Given the description of an element on the screen output the (x, y) to click on. 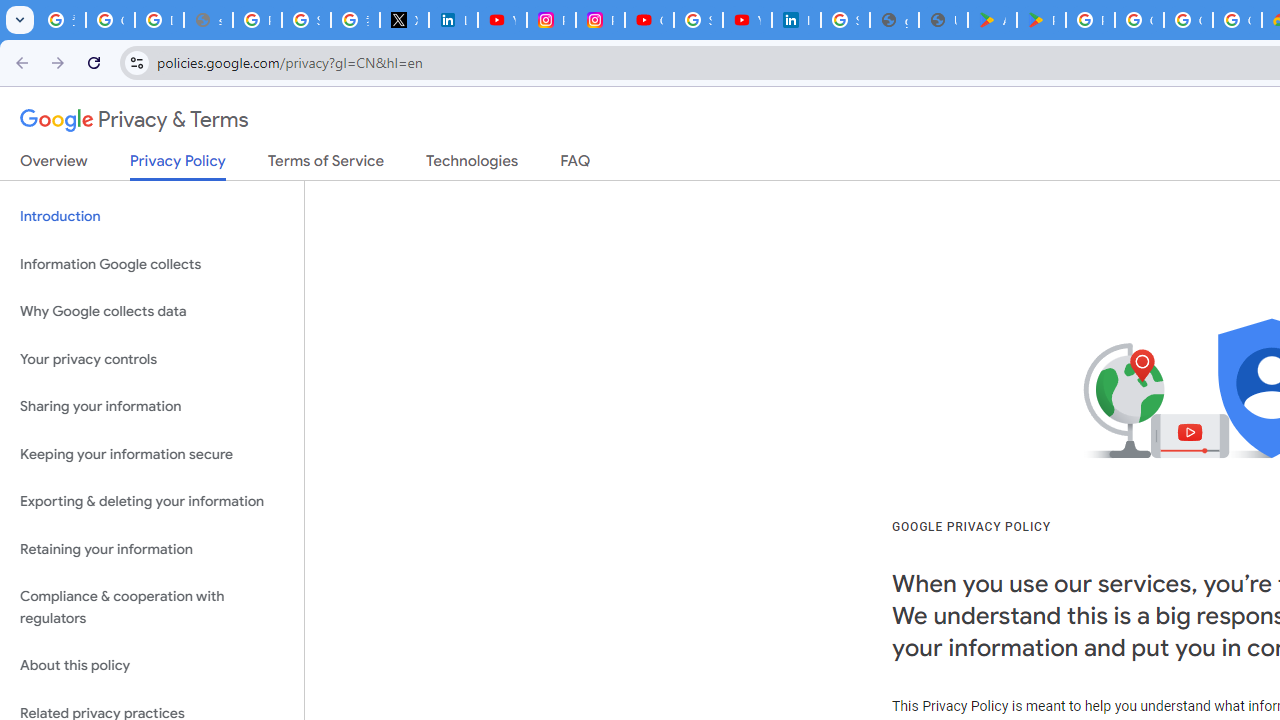
Sharing your information (152, 407)
Google Workspace - Specific Terms (1237, 20)
Information Google collects (152, 263)
User Details (943, 20)
